Given the description of an element on the screen output the (x, y) to click on. 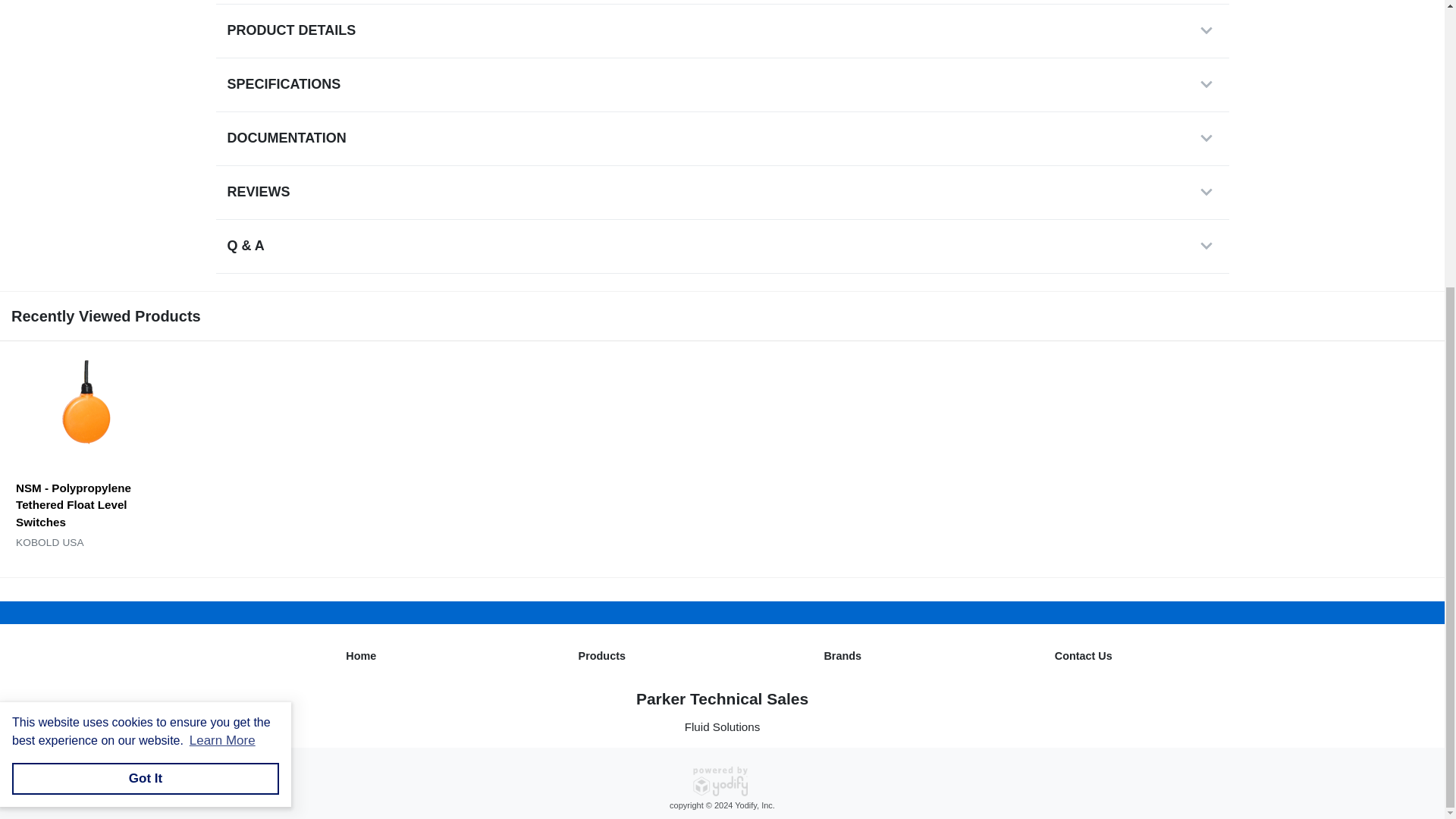
Got It (145, 345)
Learn More (221, 306)
